Given the description of an element on the screen output the (x, y) to click on. 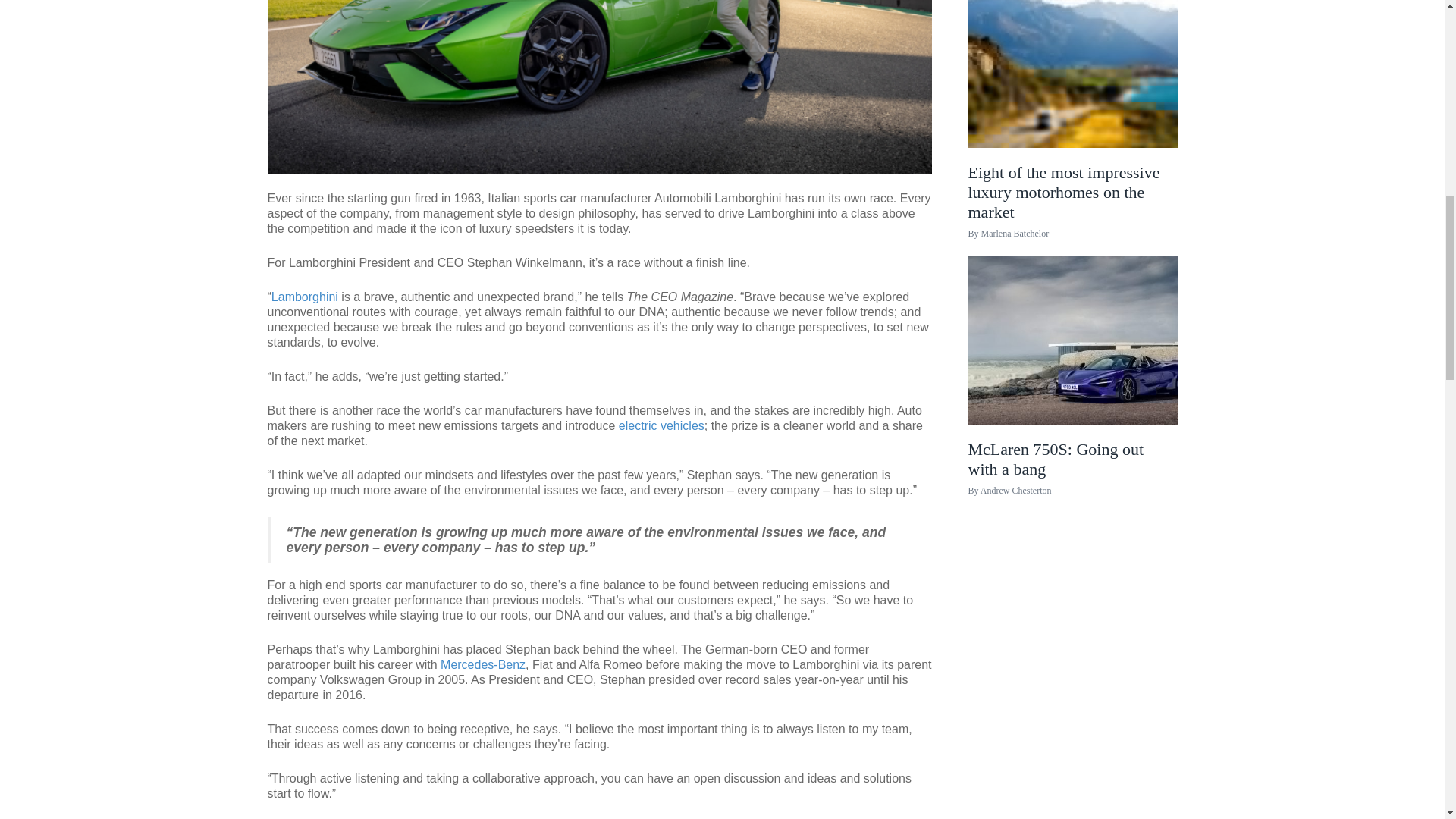
By Marlena Batchelor (1008, 233)
McLaren 750S: Going out with a bang (1072, 512)
McLaren 750S: Going out with a bang (1072, 512)
By Andrew Chesterton (1009, 490)
Lamborghini (303, 296)
Mercedes-Benz (483, 664)
Eight of the most impressive luxury motorhomes on the market (1072, 62)
electric vehicles (661, 425)
Eight of the most impressive luxury motorhomes on the market (1072, 245)
Eight of the most impressive luxury motorhomes on the market (1072, 245)
